Given the description of an element on the screen output the (x, y) to click on. 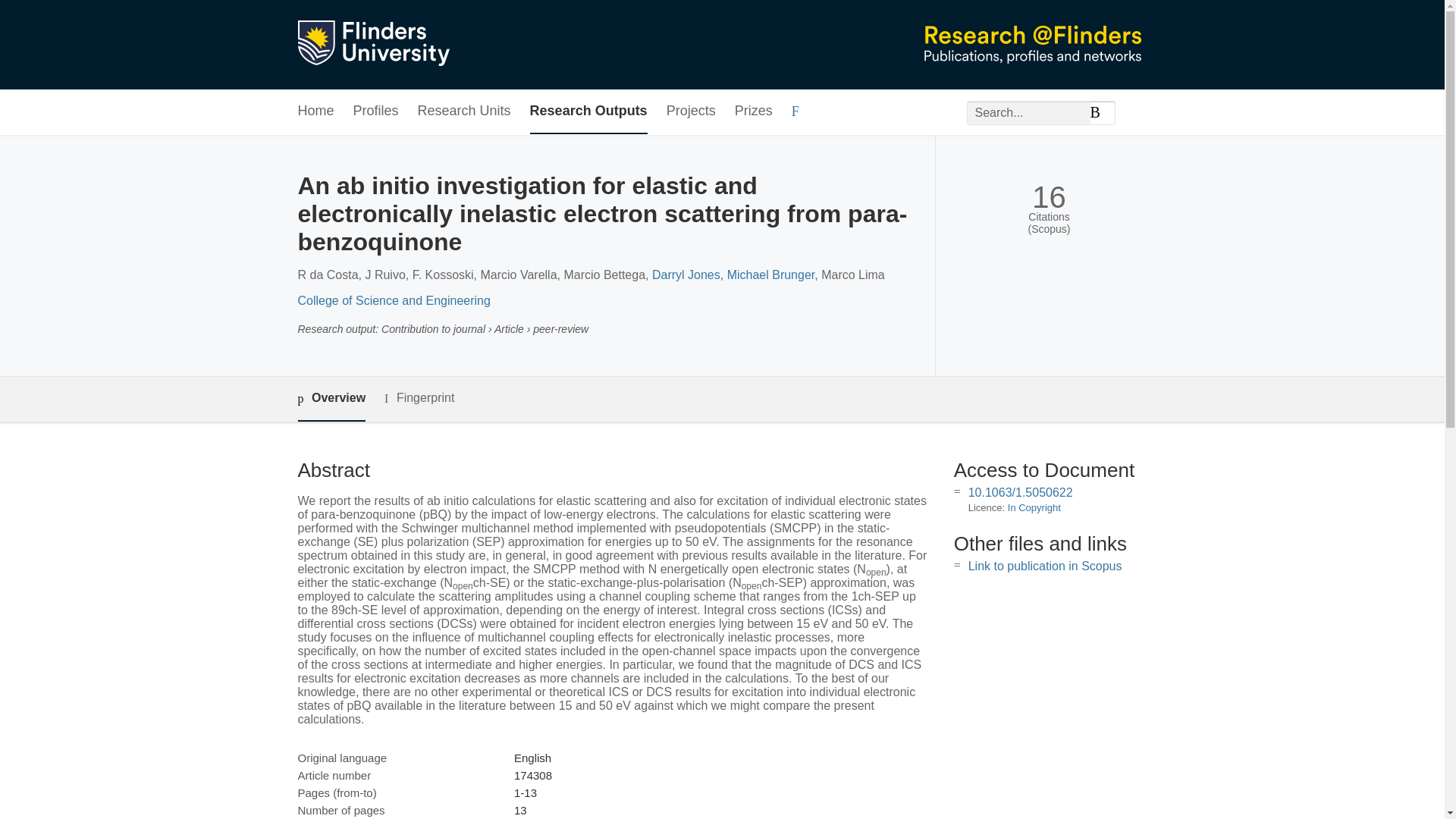
Darryl Jones (686, 274)
Fingerprint (419, 398)
Overview (331, 398)
Research Outputs (588, 111)
College of Science and Engineering (393, 300)
Projects (691, 111)
Profiles (375, 111)
Research Units (464, 111)
In Copyright (1034, 507)
